Given the description of an element on the screen output the (x, y) to click on. 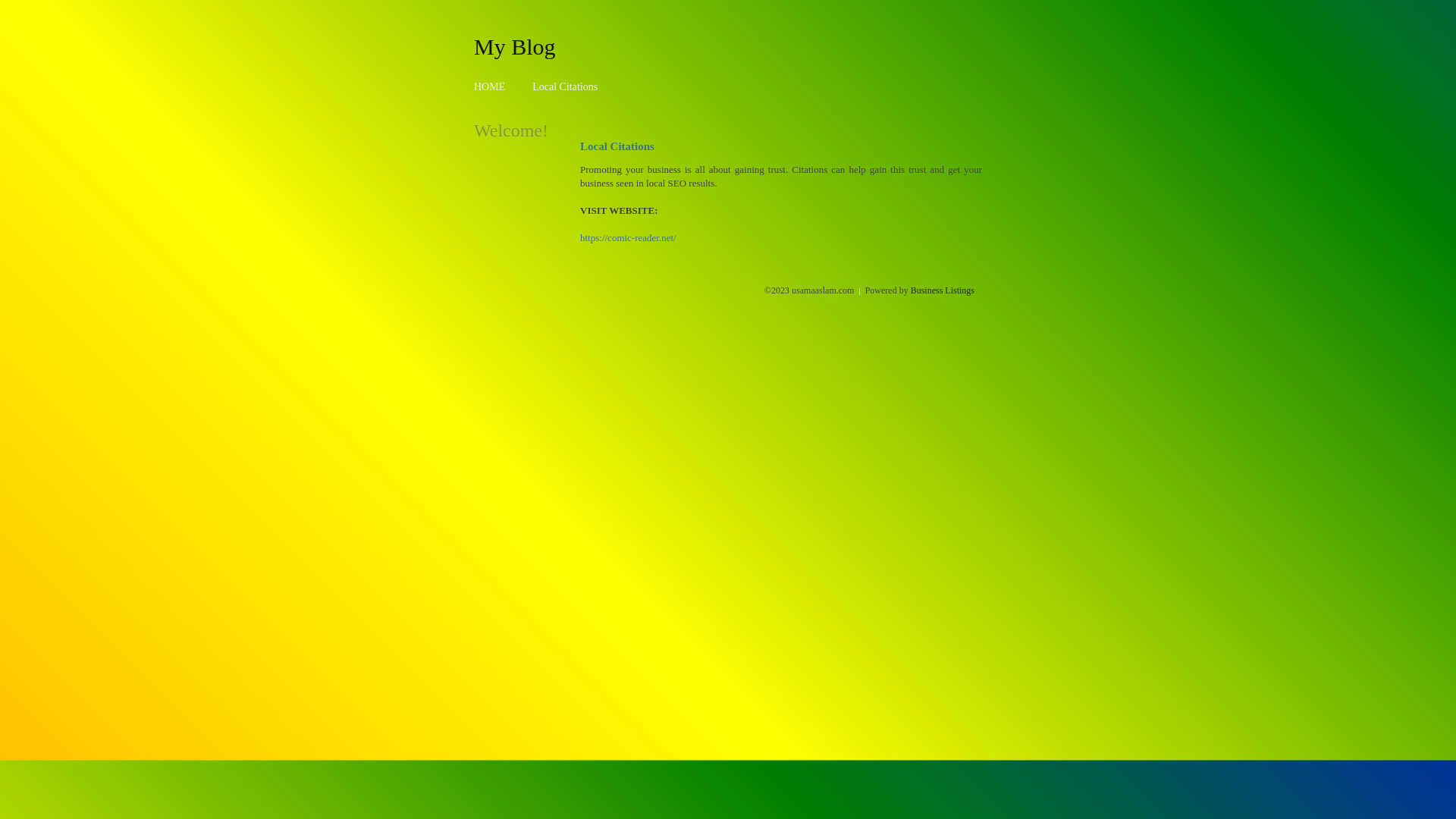
Local Citations Element type: text (564, 86)
HOME Element type: text (489, 86)
https://comic-reader.net/ Element type: text (628, 237)
Business Listings Element type: text (942, 290)
My Blog Element type: text (514, 46)
